Given the description of an element on the screen output the (x, y) to click on. 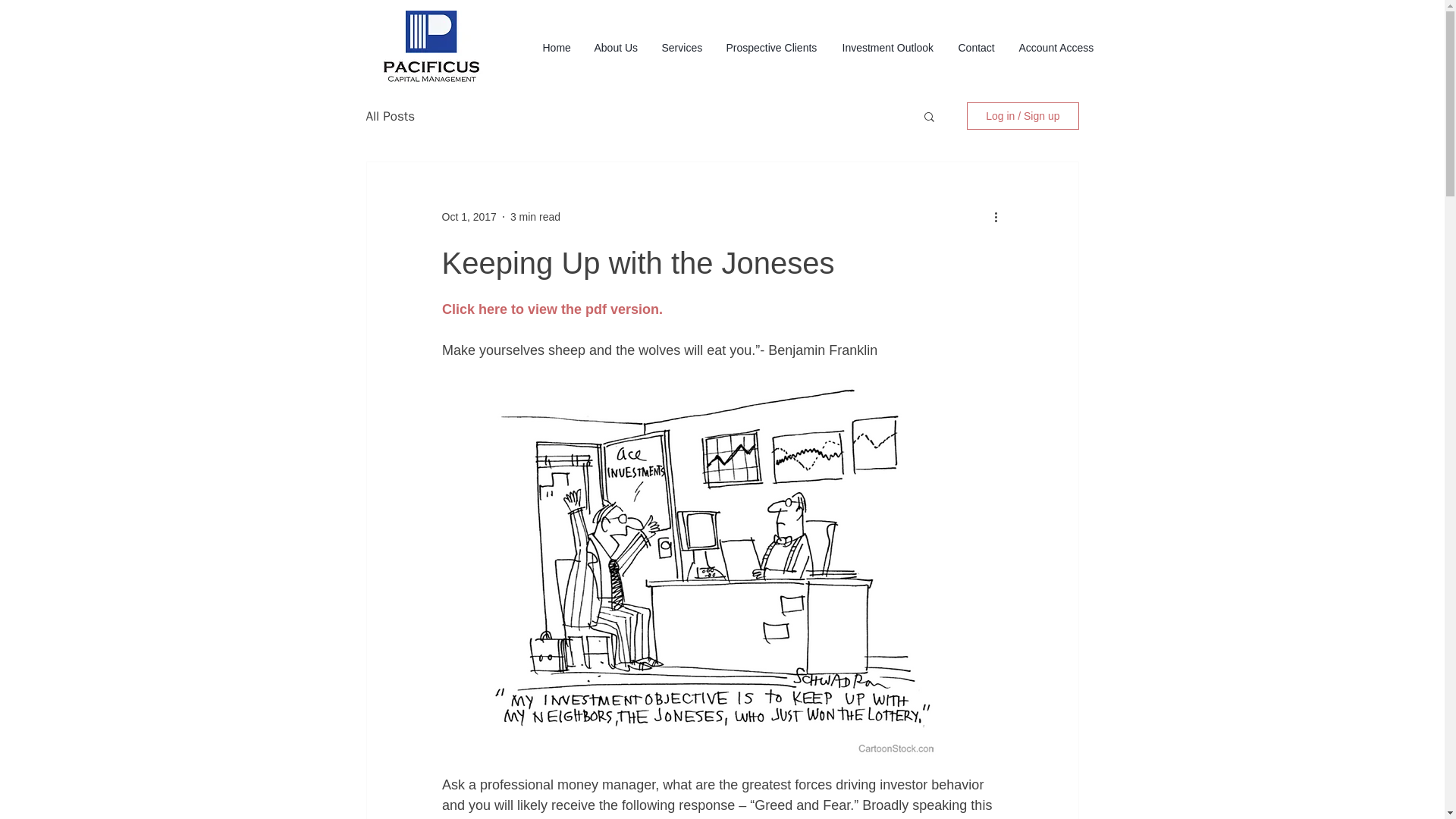
Click here to view the pdf version. (551, 309)
3 min read (535, 216)
Investment Outlook (889, 47)
Contact (976, 47)
Oct 1, 2017 (468, 216)
About Us (615, 47)
All Posts (389, 116)
Services (682, 47)
Home (556, 47)
Account Access (1057, 47)
